Given the description of an element on the screen output the (x, y) to click on. 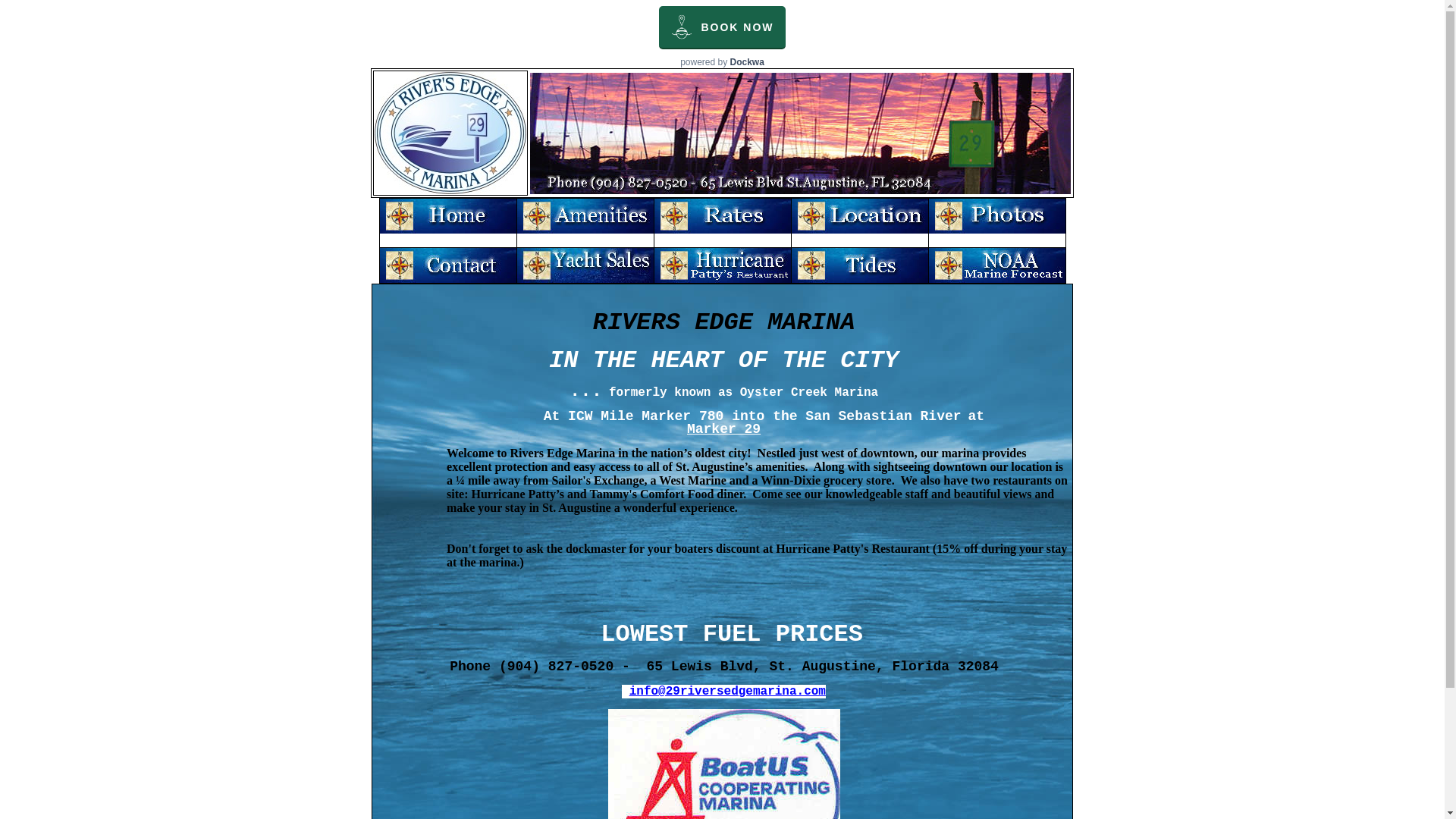
info@29riversedgemarina.com Element type: text (727, 691)
powered by Dockwa Element type: text (721, 62)
BOOK NOW Element type: text (721, 27)
